Given the description of an element on the screen output the (x, y) to click on. 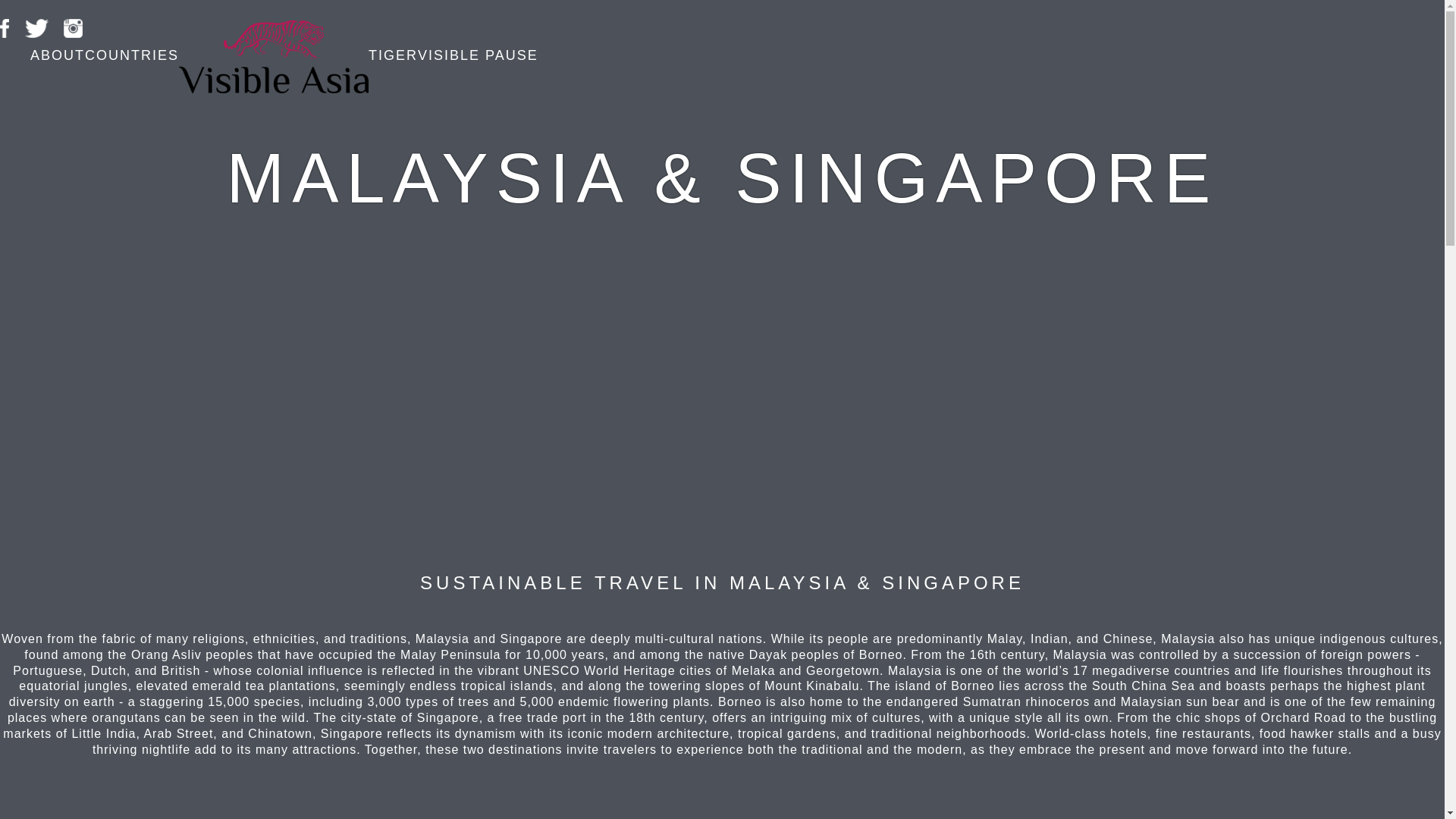
VISIBLE PAUSE (477, 55)
COUNTRIES (131, 55)
TIGER (392, 55)
ABOUT (57, 55)
